Given the description of an element on the screen output the (x, y) to click on. 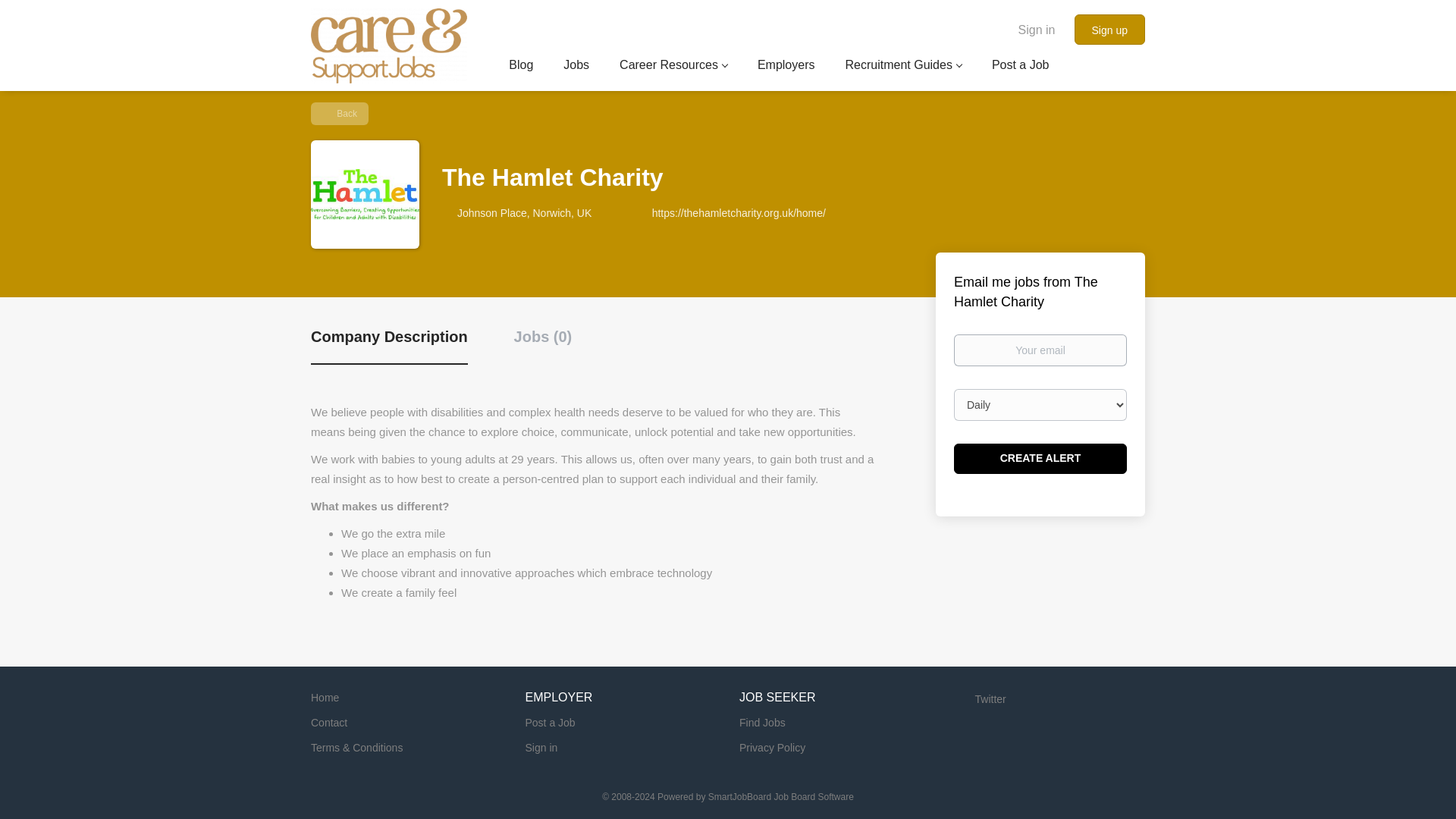
Recruitment Guides (902, 66)
Jobs (576, 66)
Sign up (1109, 29)
Sign in (1037, 28)
Employers (786, 66)
Blog (520, 66)
Create alert (1039, 458)
Job Board Software, Script (780, 796)
Career Resources (673, 66)
